Given the description of an element on the screen output the (x, y) to click on. 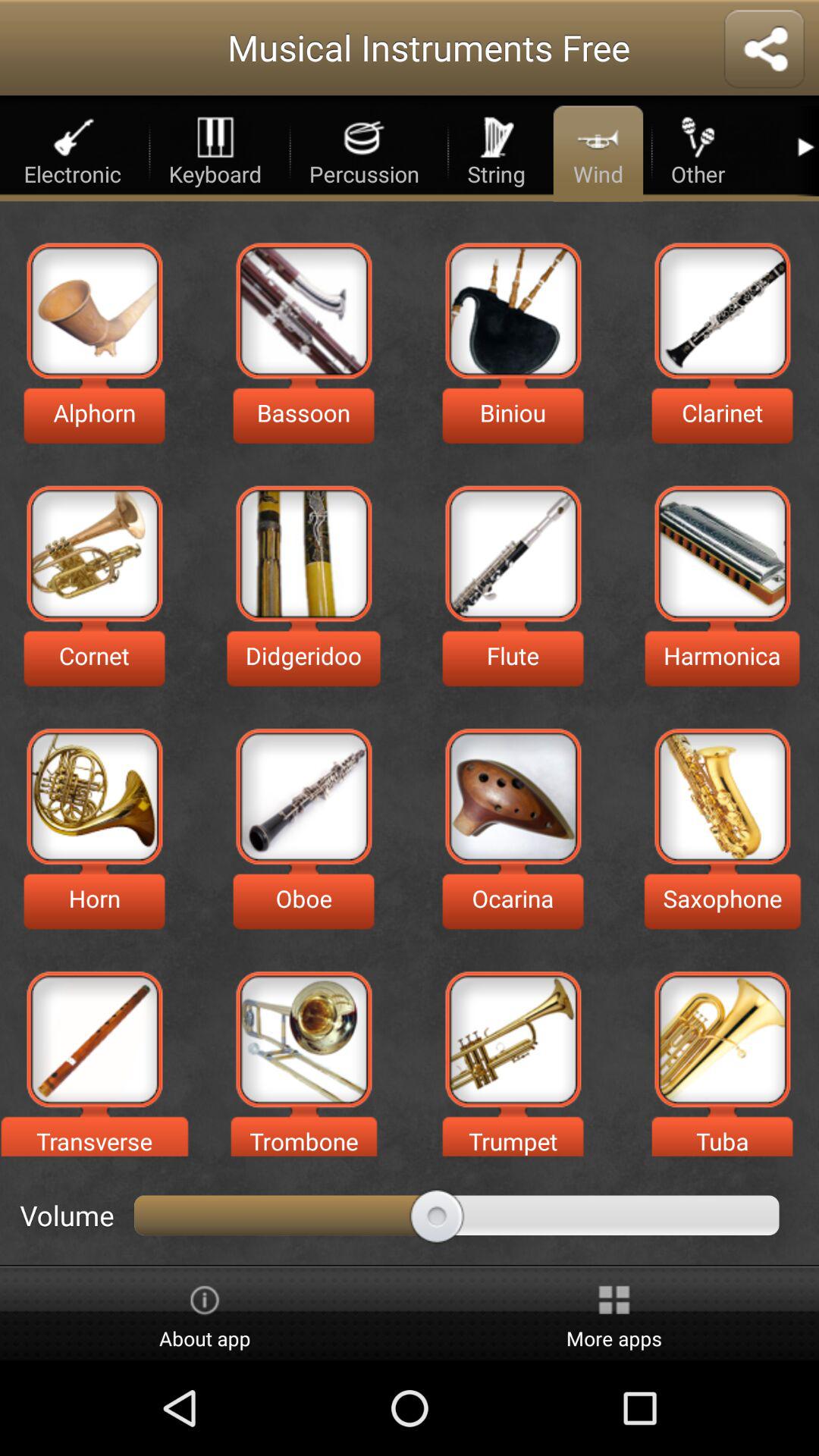
select instrument tuba (722, 1039)
